Given the description of an element on the screen output the (x, y) to click on. 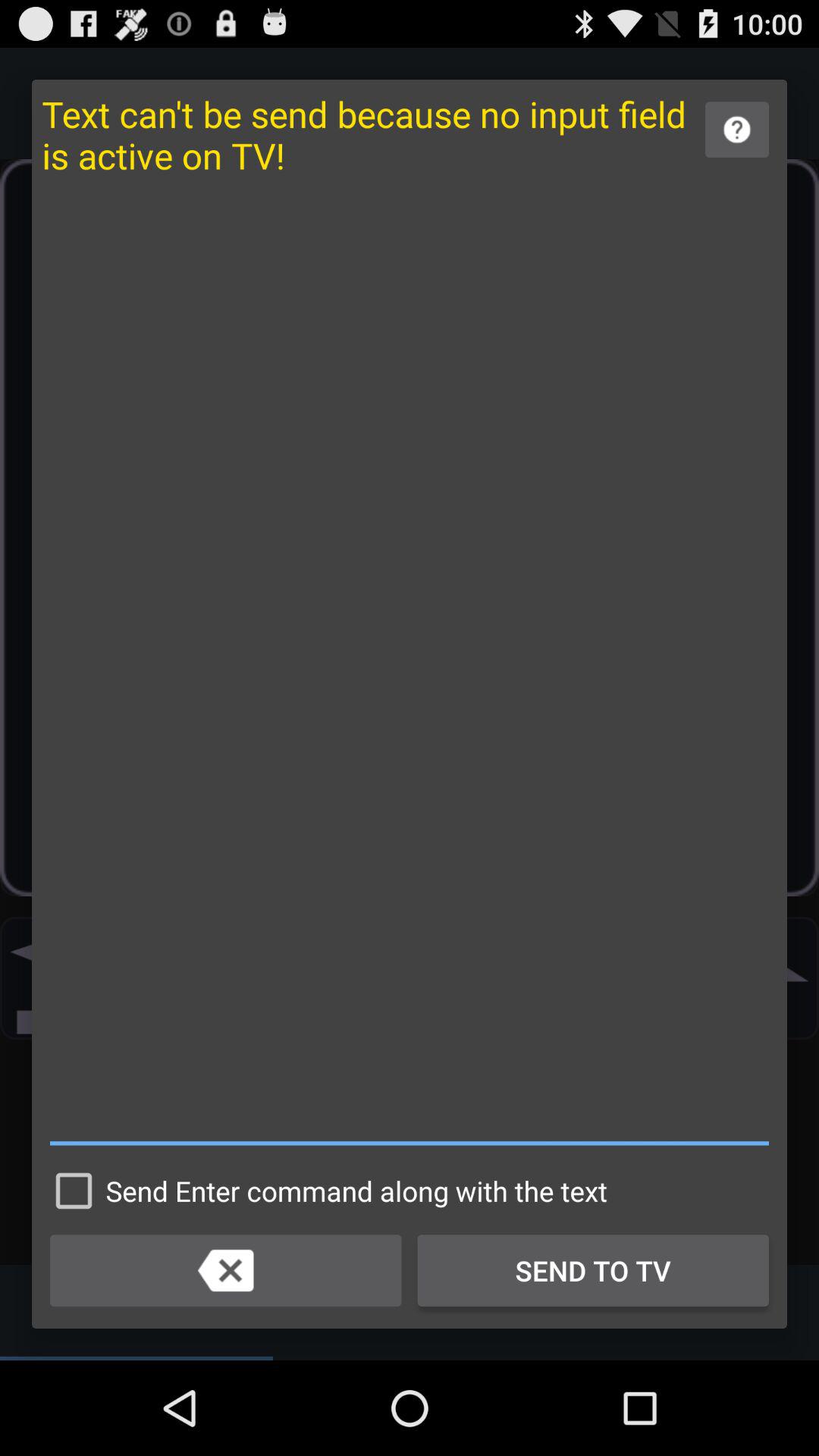
turn on send enter command at the bottom (324, 1190)
